Given the description of an element on the screen output the (x, y) to click on. 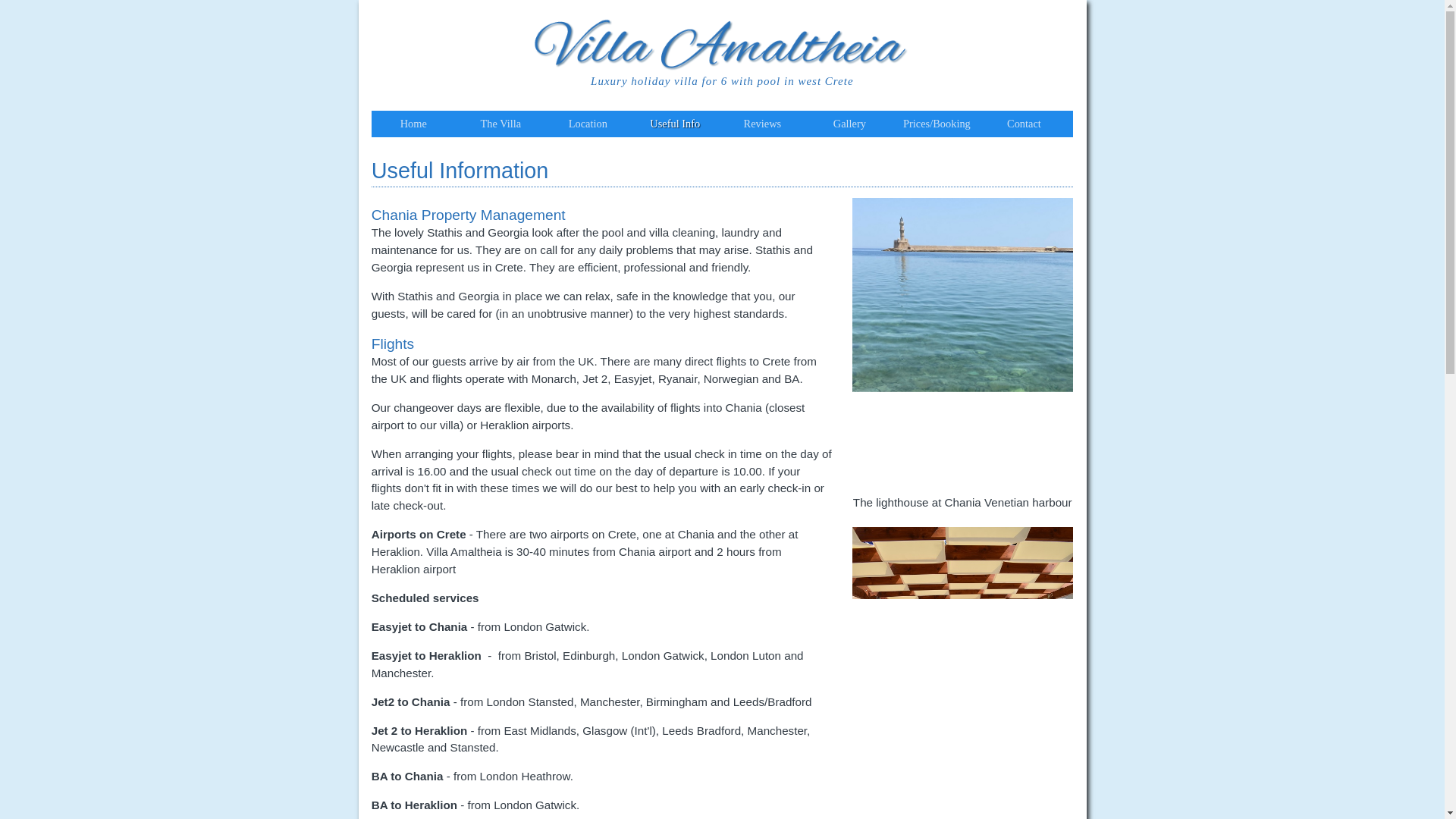
Chania villa, Crete (721, 43)
Book Villa Amaltheia (936, 123)
Location (588, 123)
Crete holiday villa for 6 nr Chania (413, 123)
Villa Amaltheia info (675, 123)
West Crete villa for 6 with pool, Chania, Almyrida, Klayves (500, 123)
Contact Villa Amaltheia (1023, 123)
Photos of Villa Amaltheia (849, 123)
Villa for 6 near Georgiouplis, Almyrida, Kalyves (721, 43)
Contact (1023, 123)
